Given the description of an element on the screen output the (x, y) to click on. 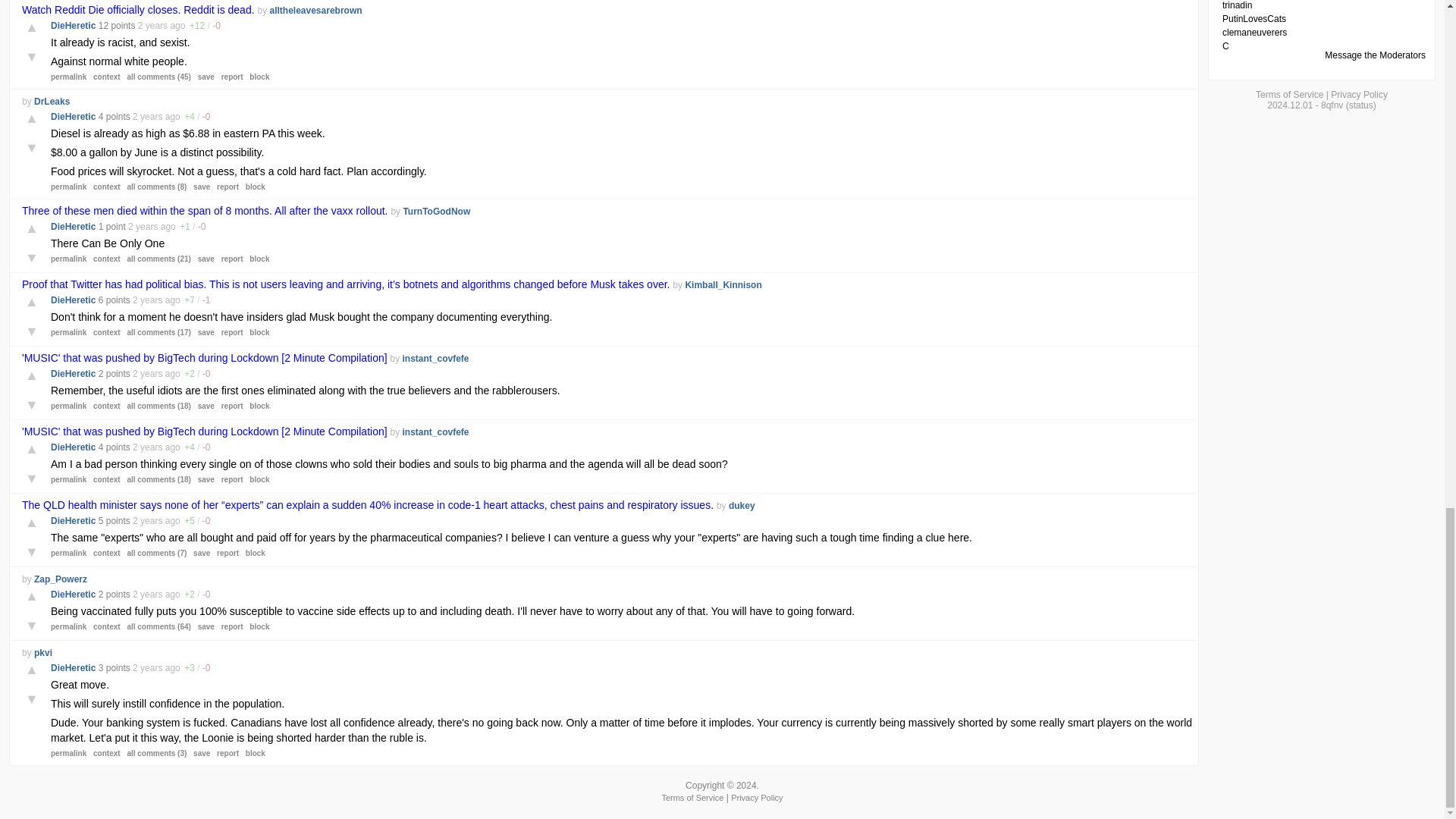
Wed Apr 27 10:09:44 GMT 2022 (146, 299)
Sat May 07 13:27:29 GMT 2022 (142, 226)
Thu Apr 14 13:30:28 GMT 2022 (146, 520)
Thu Jun 16 15:17:04 GMT 2022 (152, 25)
Tue Apr 26 22:23:27 GMT 2022 (146, 373)
Tue Apr 26 17:04:58 GMT 2022 (146, 447)
Thu May 12 23:12:56 GMT 2022 (146, 116)
